Given the description of an element on the screen output the (x, y) to click on. 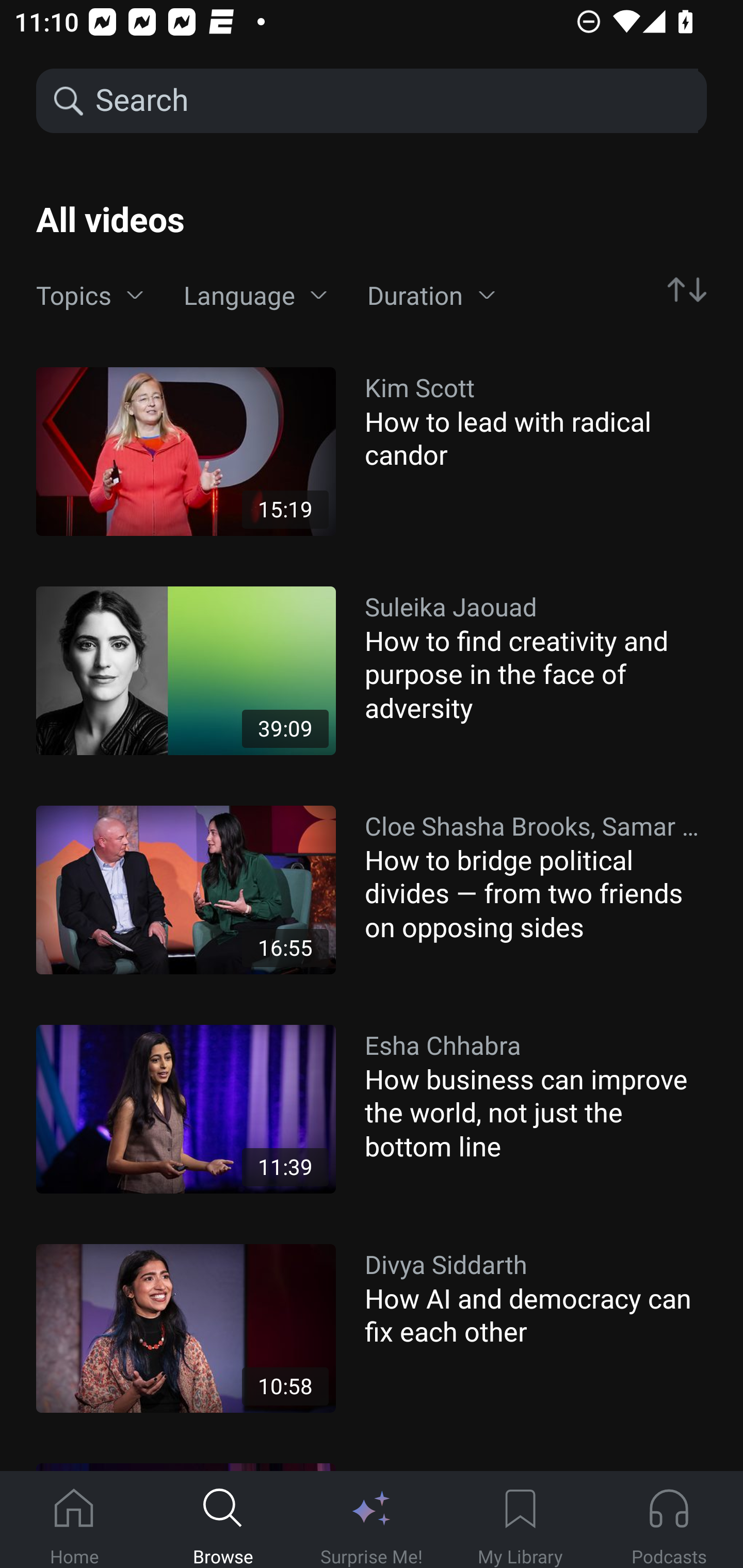
Search (395, 100)
Topics (90, 295)
Language (255, 295)
Duration (431, 295)
15:19 Kim Scott How to lead with radical candor (371, 451)
Home (74, 1520)
Browse (222, 1520)
Surprise Me! (371, 1520)
My Library (519, 1520)
Podcasts (668, 1520)
